Given the description of an element on the screen output the (x, y) to click on. 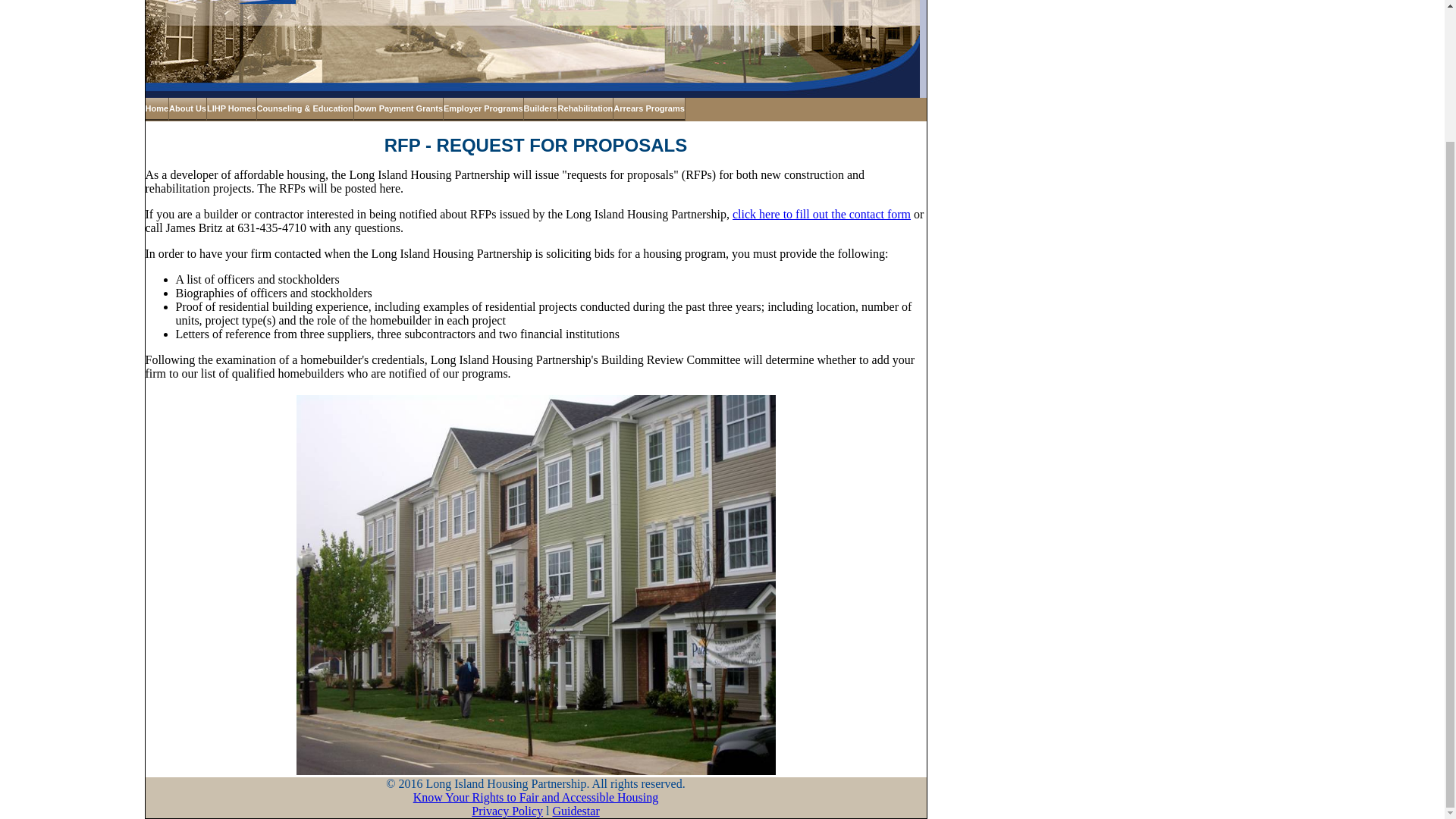
Home (157, 109)
Employer Programs (484, 109)
LIHP Homes (231, 109)
About Us (187, 109)
Arrears Programs (648, 109)
Rehabilitation (585, 109)
Home (157, 109)
LIHP Homes (231, 109)
About Us (187, 109)
Builders (540, 109)
Down Payment Grants (398, 109)
